Given the description of an element on the screen output the (x, y) to click on. 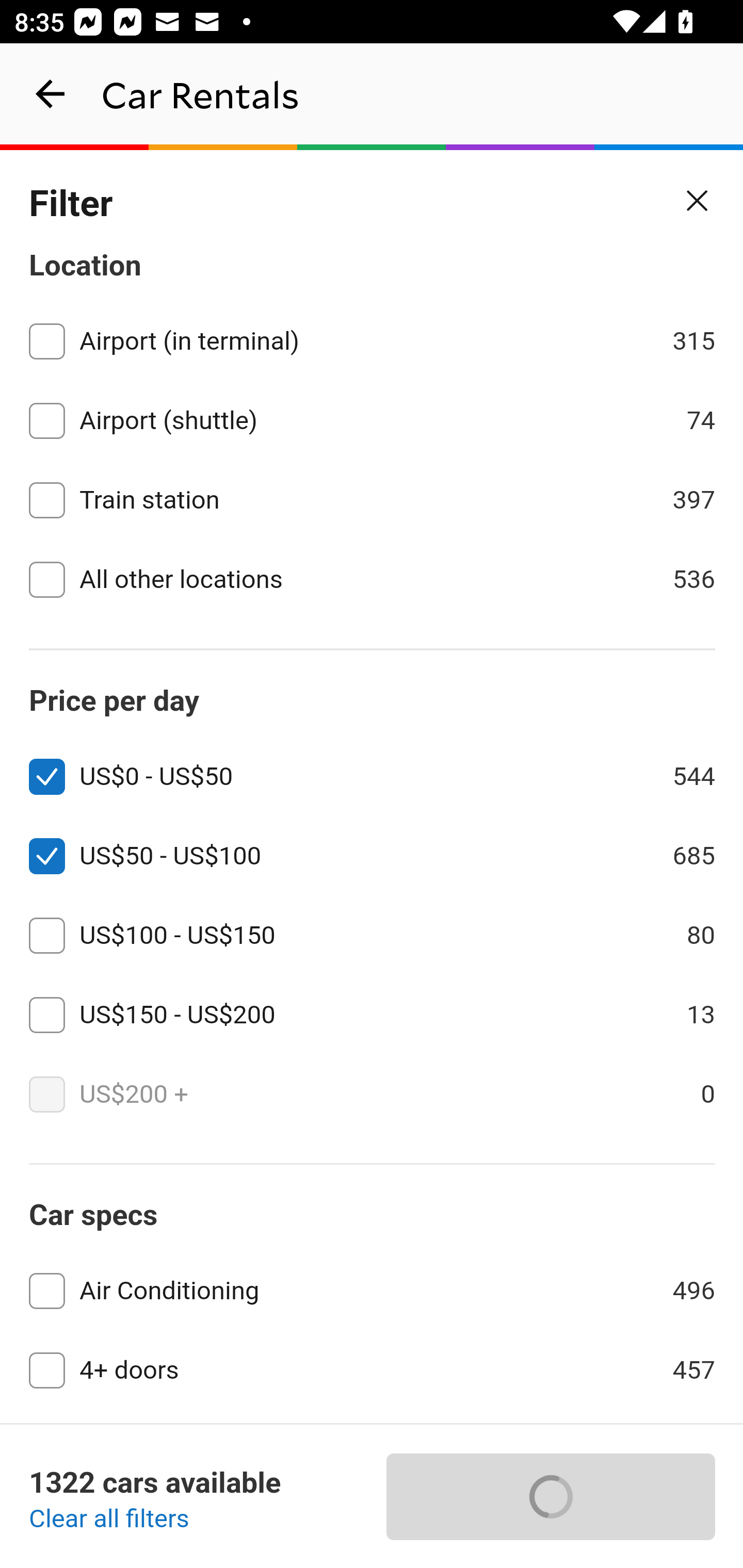
navigation_button (50, 93)
Close (697, 201)
Clear all filters (108, 1519)
